Given the description of an element on the screen output the (x, y) to click on. 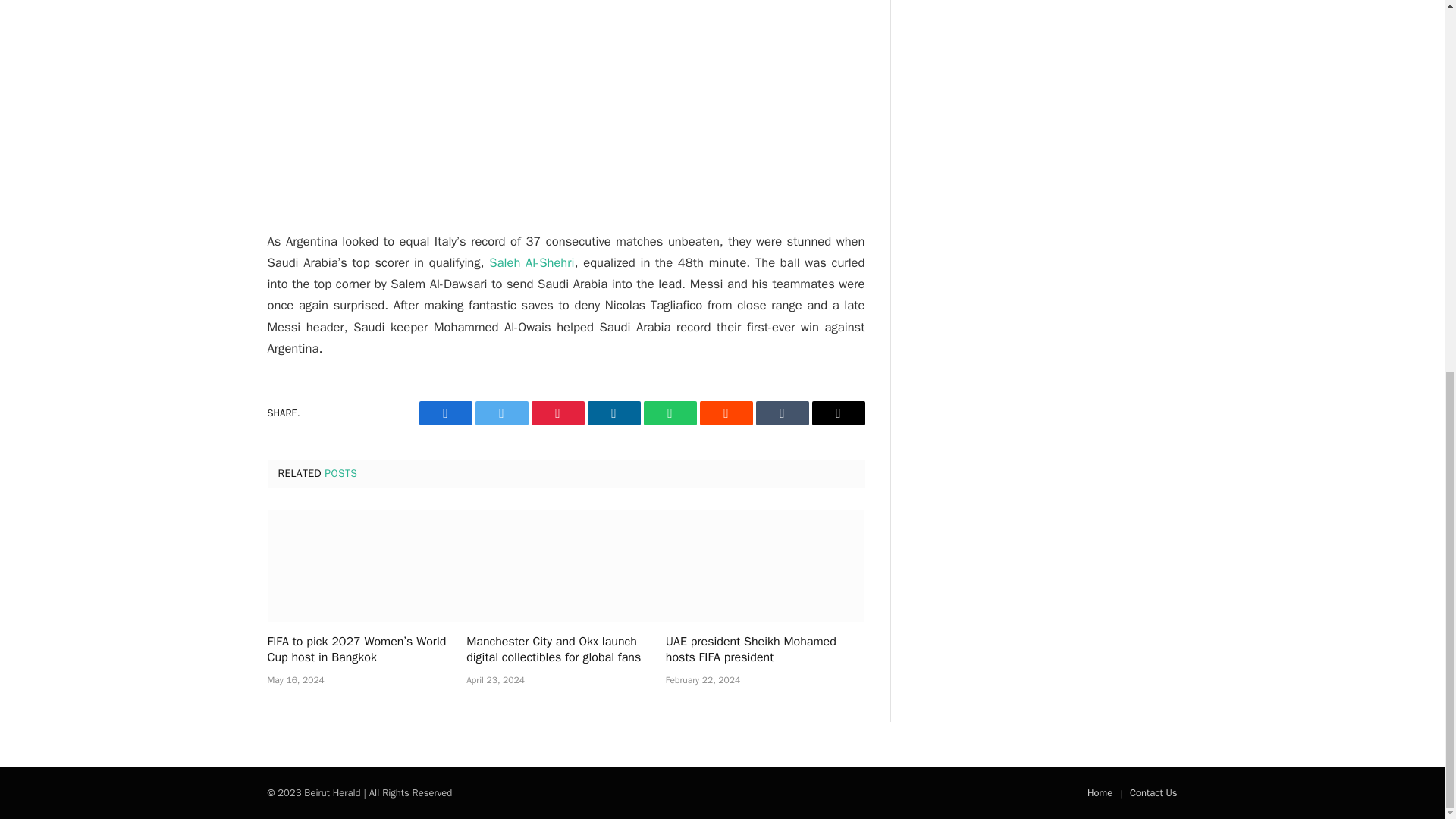
Share on Tumblr (781, 413)
Saleh Al-Shehri (531, 262)
Facebook (445, 413)
Share on WhatsApp (669, 413)
Share on Reddit (725, 413)
Share on Facebook (445, 413)
Share on Pinterest (557, 413)
Pinterest (557, 413)
Share on LinkedIn (613, 413)
Twitter (500, 413)
